Given the description of an element on the screen output the (x, y) to click on. 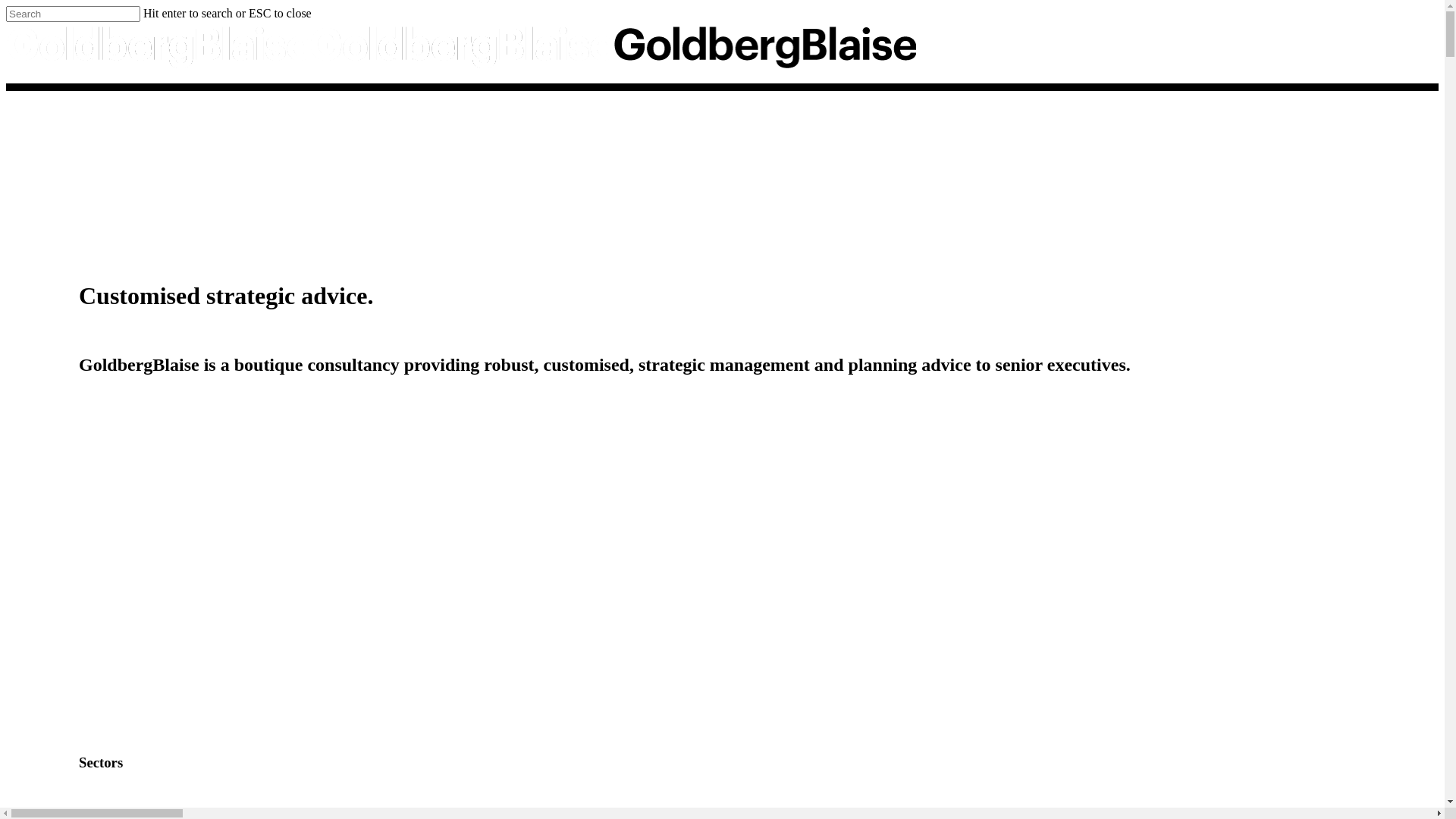
Skip to main content Element type: text (5, 5)
